Given the description of an element on the screen output the (x, y) to click on. 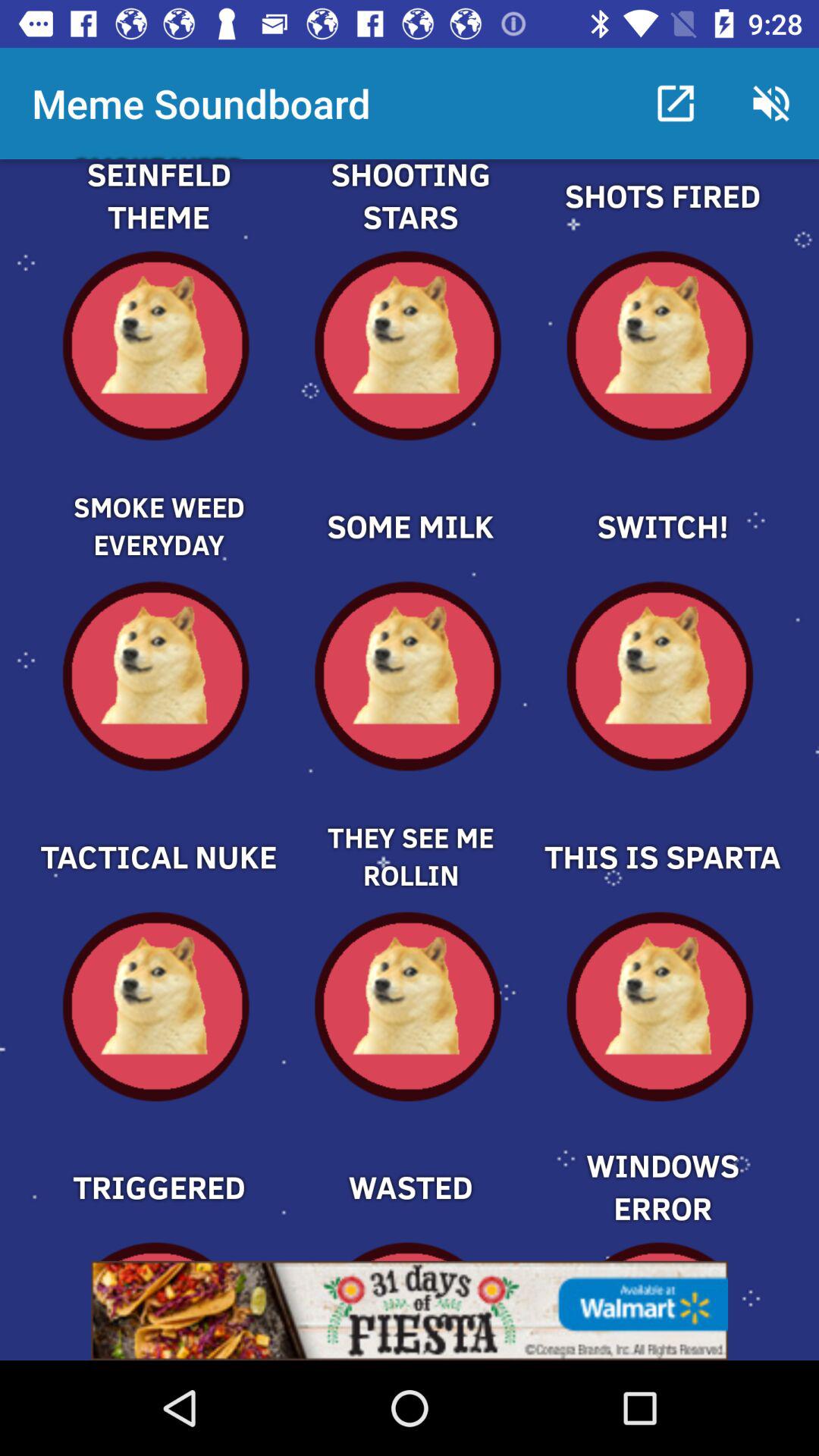
play sound (660, 214)
